Given the description of an element on the screen output the (x, y) to click on. 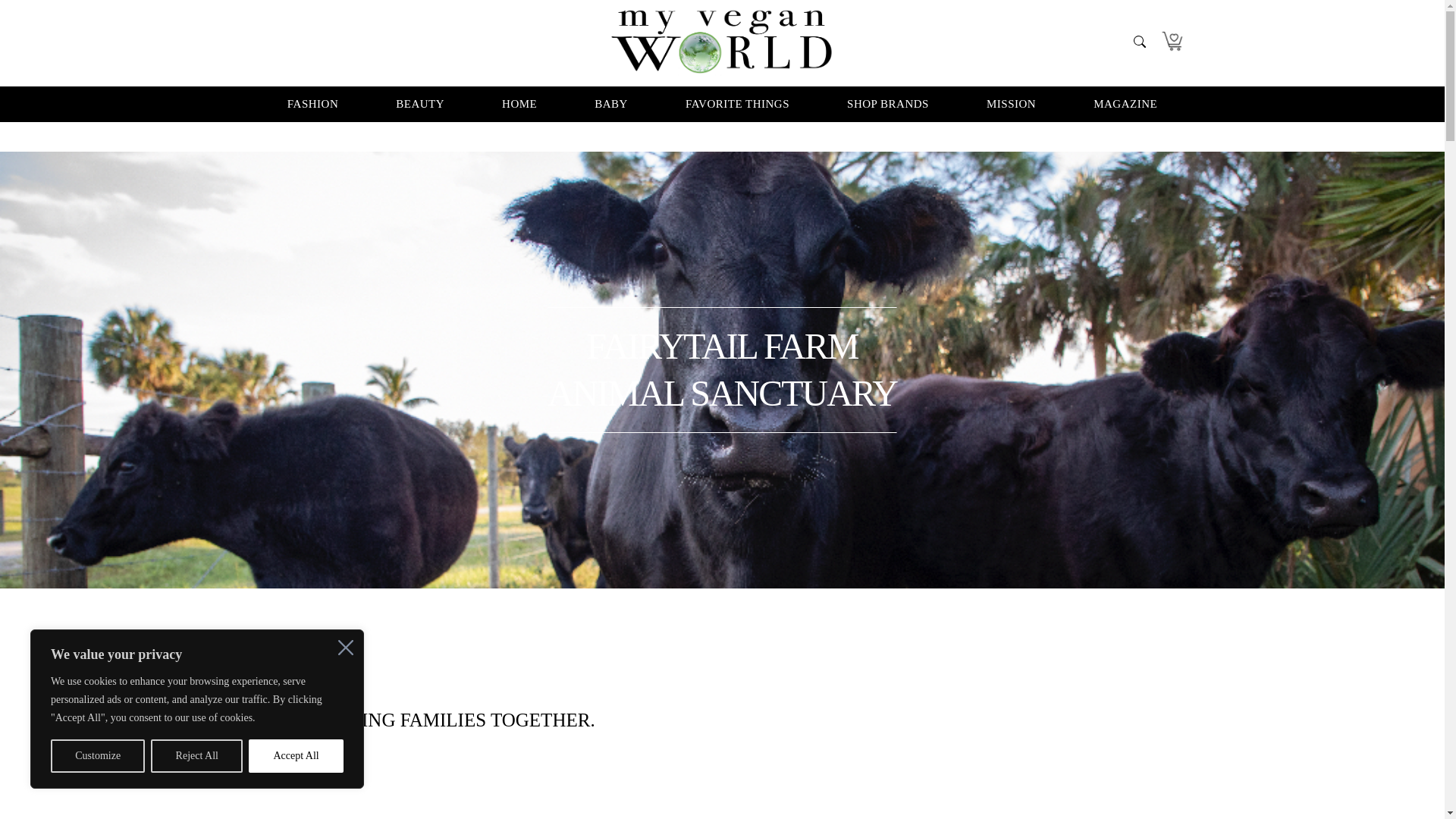
Accept All (295, 756)
FASHION (312, 104)
Customize (97, 756)
Reject All (197, 756)
